Given the description of an element on the screen output the (x, y) to click on. 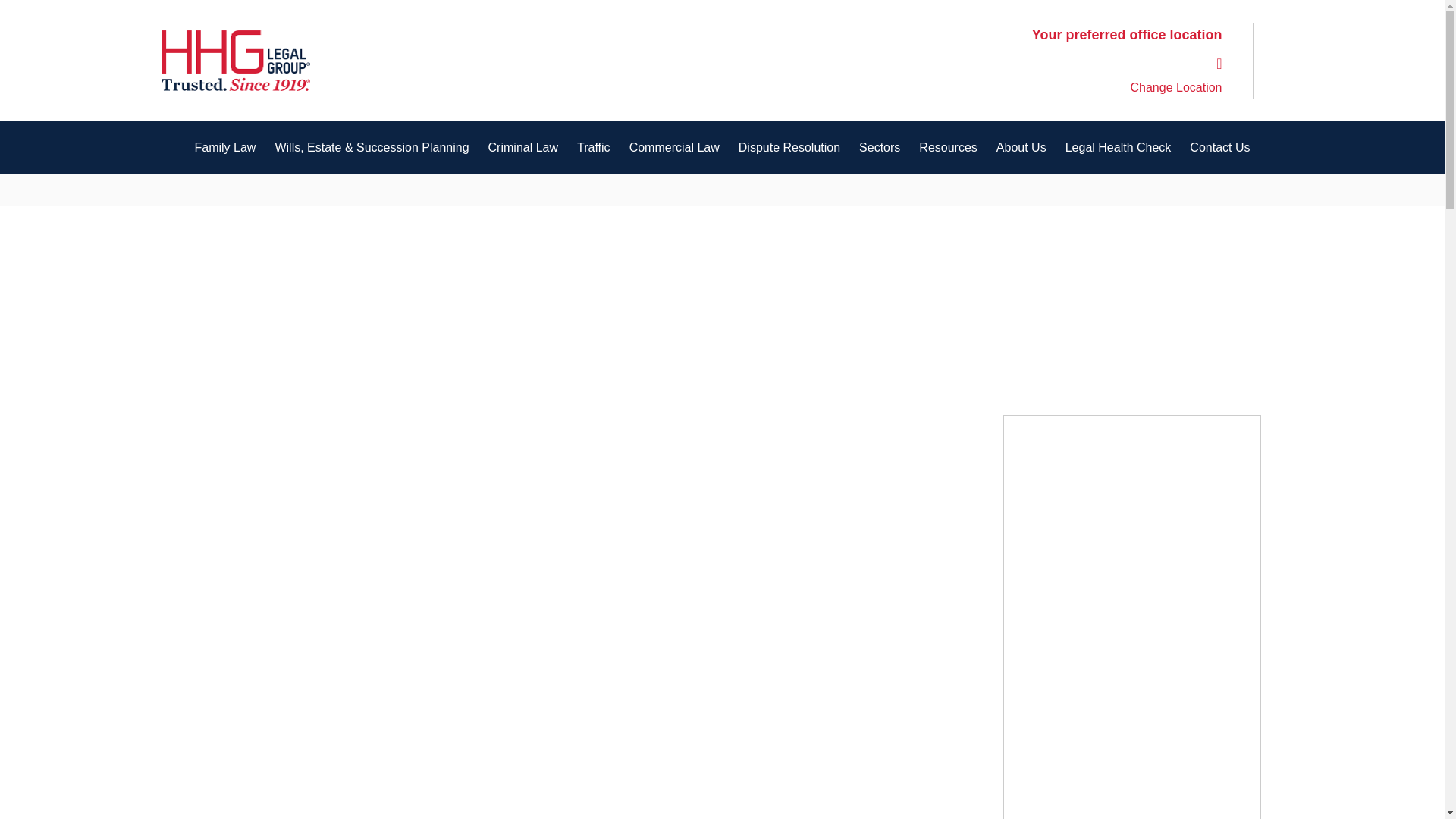
Traffic (593, 147)
Family Law (224, 147)
Change Location (1177, 88)
Criminal Law (523, 147)
Commercial Law (673, 147)
